Given the description of an element on the screen output the (x, y) to click on. 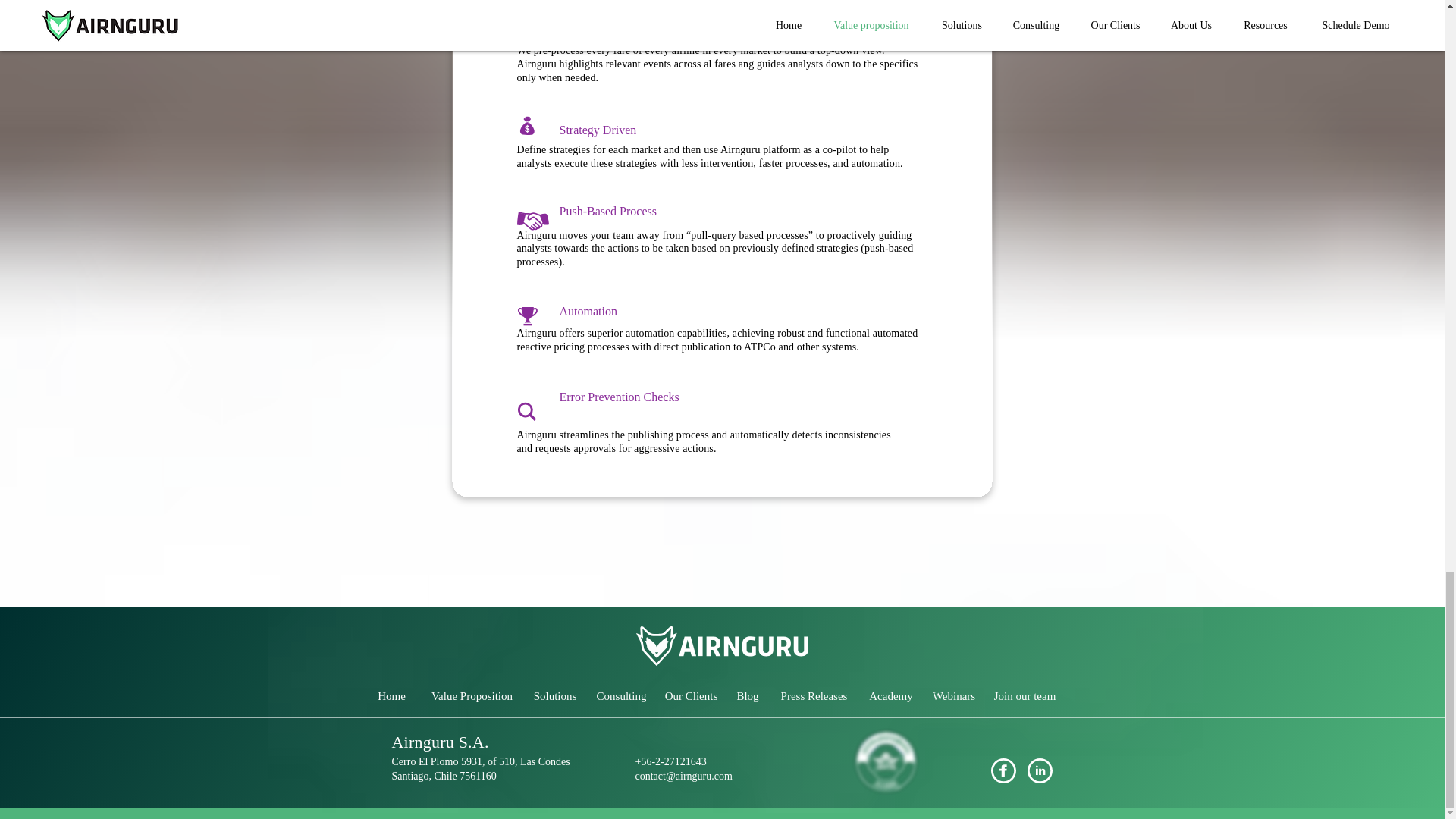
Join our team (1024, 695)
Our Clients (691, 695)
Press Releases (814, 695)
Value Proposition (471, 695)
Academy (891, 695)
Webinars (953, 695)
Consulting (621, 695)
Blog (747, 695)
Solutions (554, 695)
Home (391, 695)
